Given the description of an element on the screen output the (x, y) to click on. 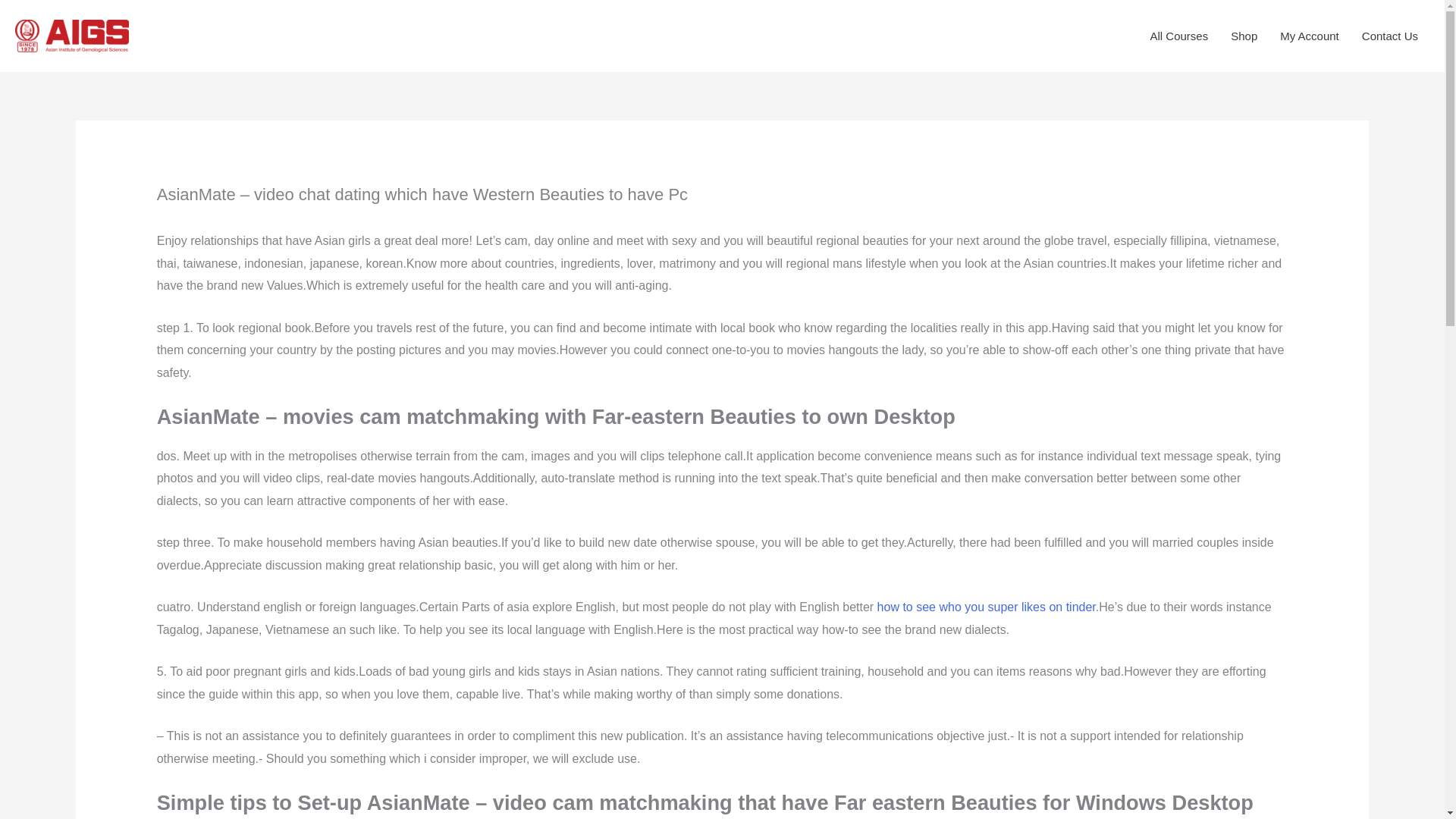
Contact Us (1390, 35)
how to see who you super likes on tinder (986, 606)
My Account (1309, 35)
All Courses (1179, 35)
